Given the description of an element on the screen output the (x, y) to click on. 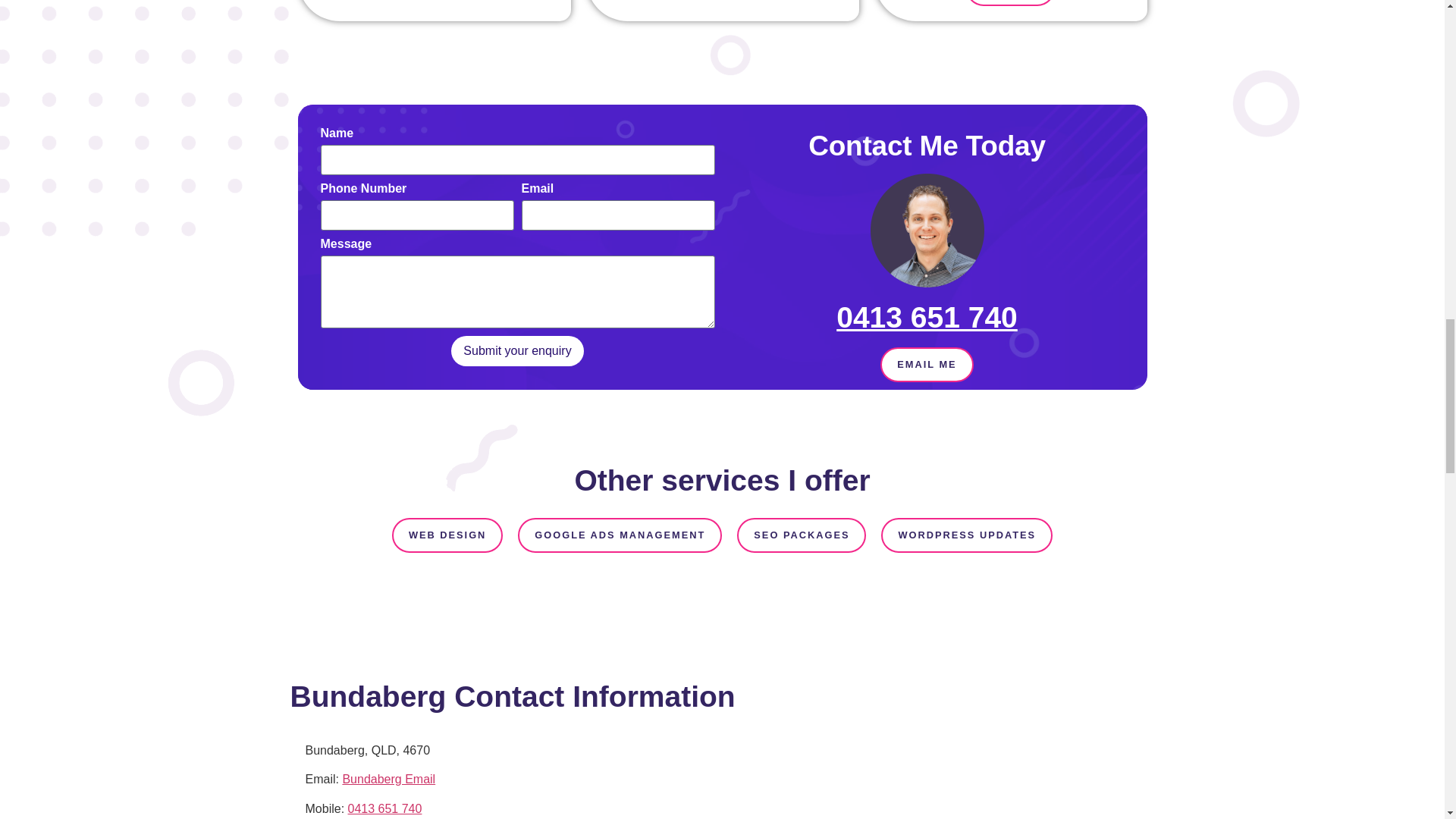
SEO PACKAGES (801, 534)
ENQUIRE (1010, 2)
EMAIL ME (926, 364)
GOOGLE ADS MANAGEMENT (620, 534)
0413 651 740 (384, 808)
0413 651 740 (926, 317)
WEB DESIGN (446, 534)
WORDPRESS UPDATES (966, 534)
Bundaberg Email (388, 779)
Submit your enquiry (517, 350)
